Given the description of an element on the screen output the (x, y) to click on. 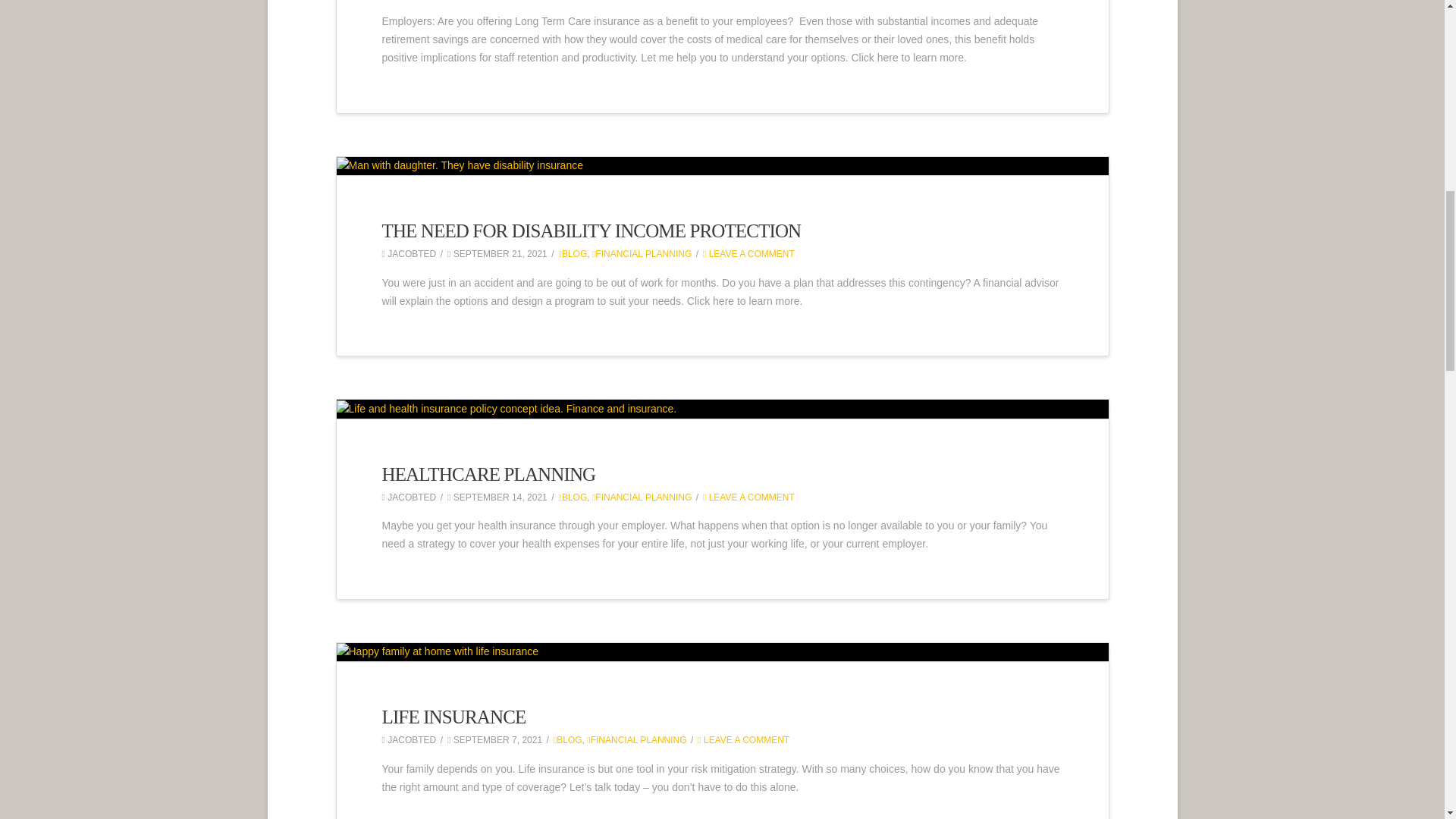
Permalink to: "The Need for Disability Income Protection" (722, 166)
LEAVE A COMMENT (748, 253)
FINANCIAL PLANNING (641, 497)
BLOG (571, 497)
HEALTHCARE PLANNING (488, 474)
FINANCIAL PLANNING (641, 253)
BLOG (571, 253)
Permalink to: "The Need for Disability Income Protection" (591, 230)
THE NEED FOR DISABILITY INCOME PROTECTION (591, 230)
